Given the description of an element on the screen output the (x, y) to click on. 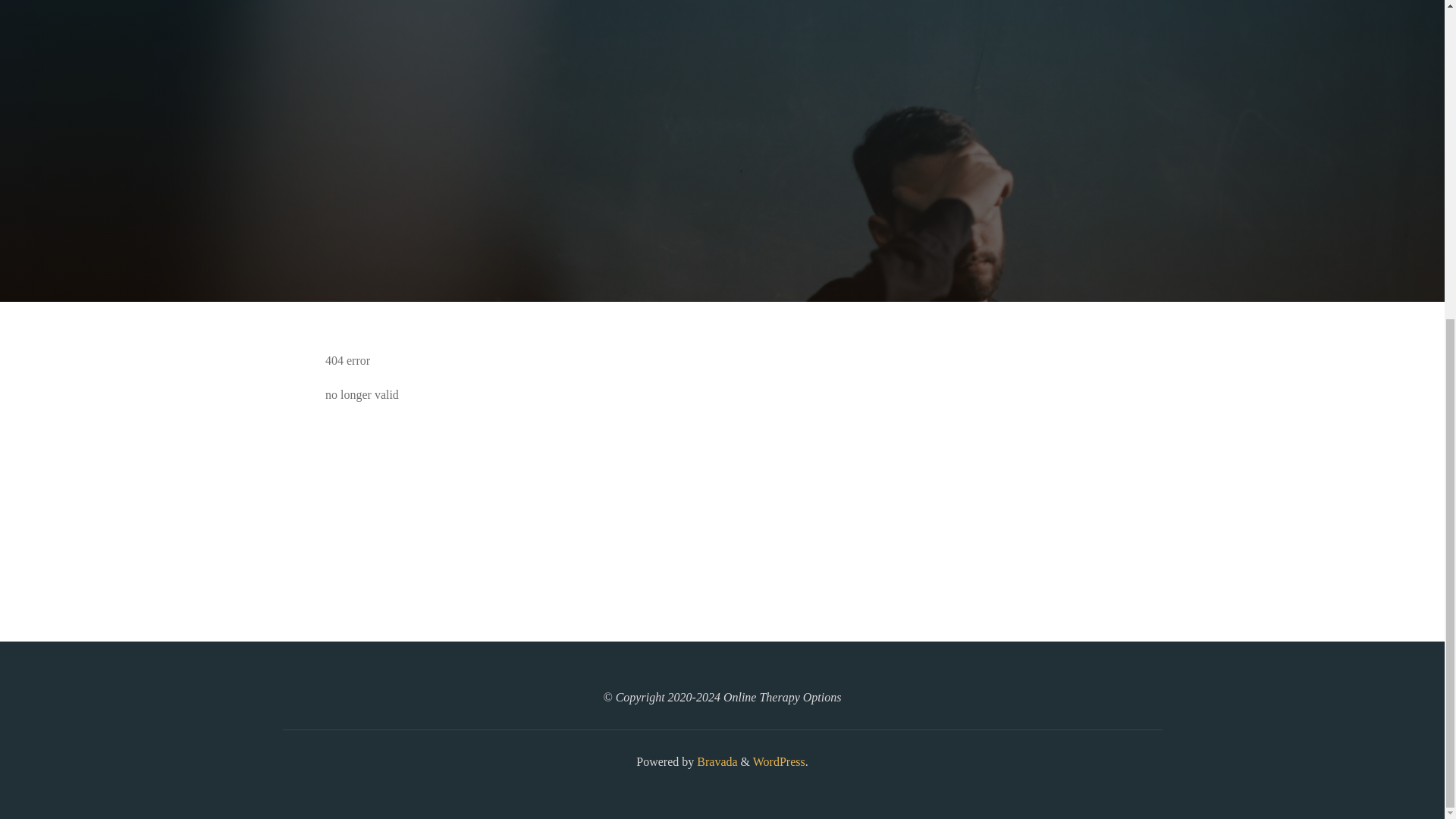
Bravada (715, 761)
Read more (721, 207)
WordPress (778, 761)
Bravada WordPress Theme by Cryout Creations (715, 761)
Semantic Personal Publishing Platform (778, 761)
